Given the description of an element on the screen output the (x, y) to click on. 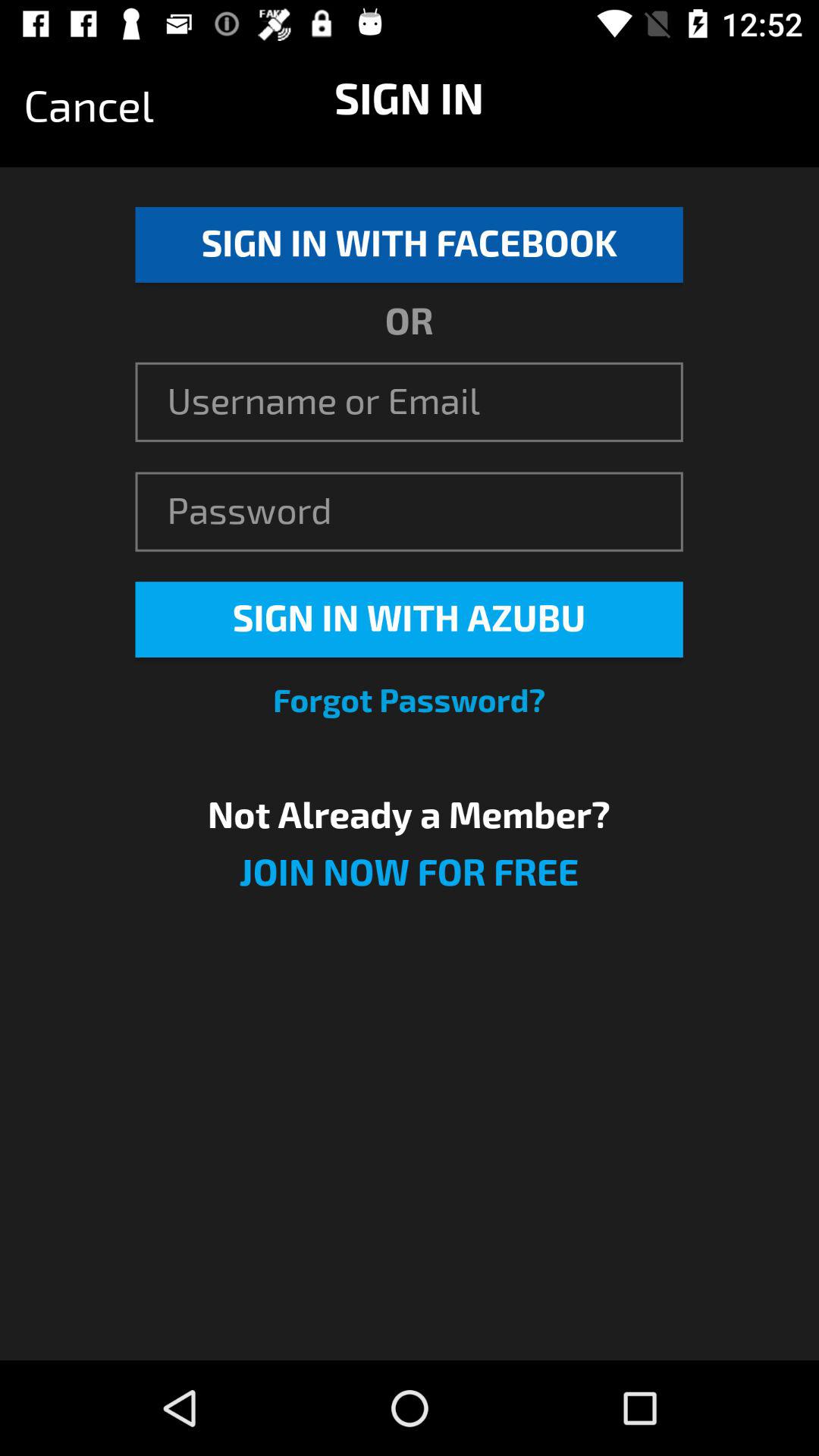
turn on the cancel (89, 107)
